Given the description of an element on the screen output the (x, y) to click on. 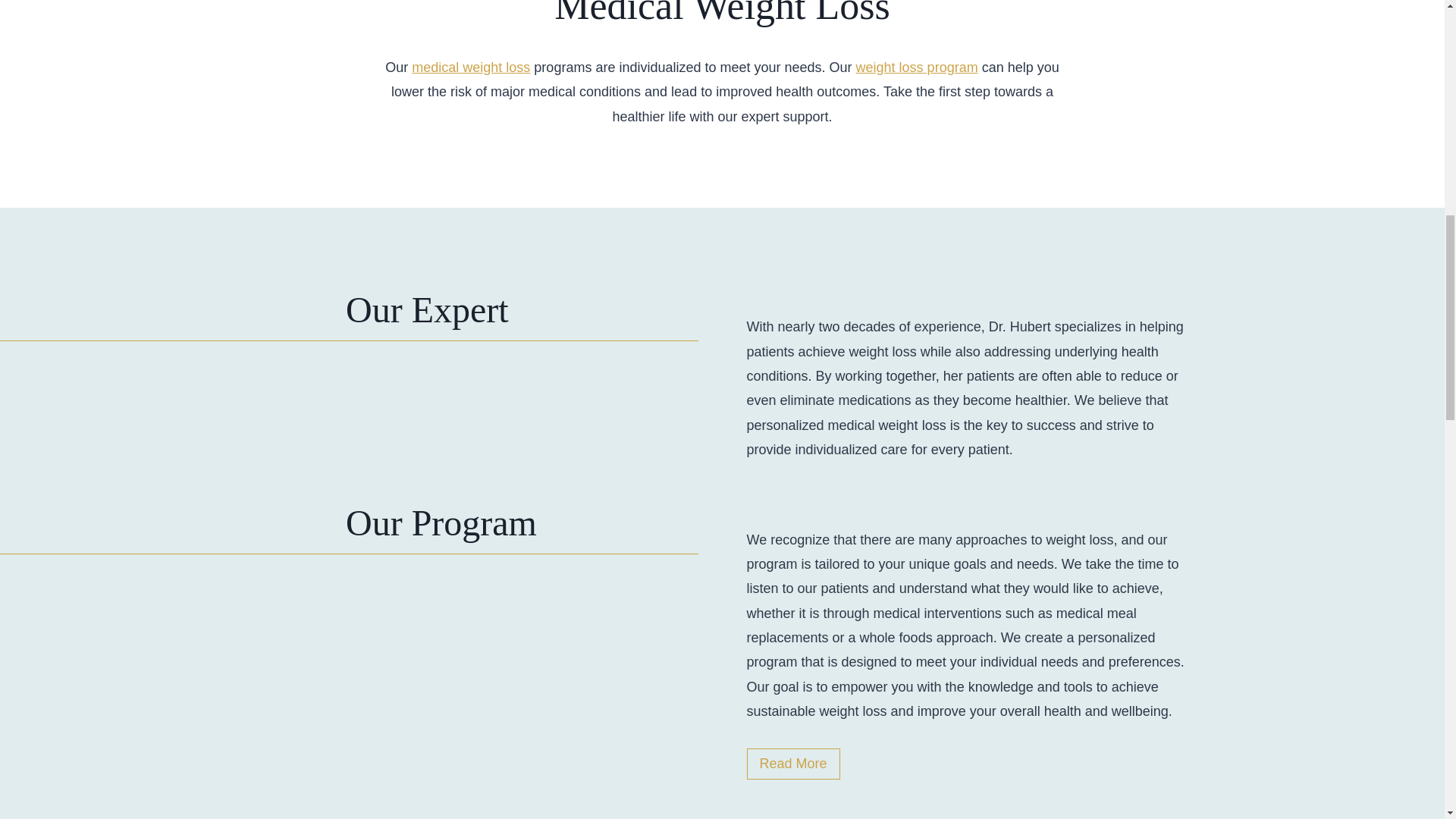
weight loss program (917, 67)
Read More (792, 763)
medical weight loss (470, 67)
